Given the description of an element on the screen output the (x, y) to click on. 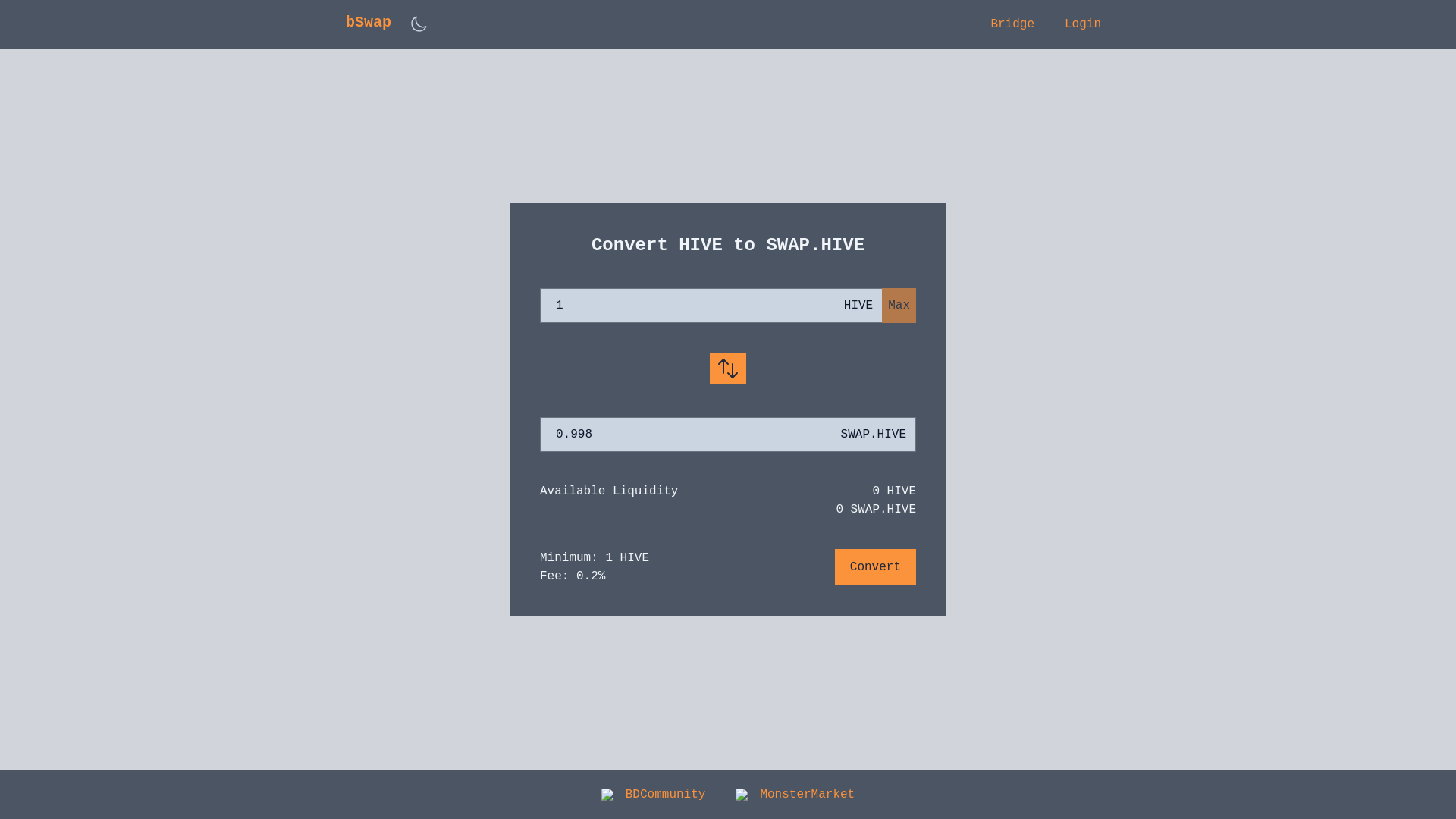
MonsterMarket Element type: text (794, 794)
Convert Element type: text (875, 567)
Max Element type: text (898, 305)
bSwap Element type: text (368, 24)
Bridge Element type: text (1012, 24)
Login Element type: text (1082, 24)
BDCommunity Element type: text (653, 794)
